Given the description of an element on the screen output the (x, y) to click on. 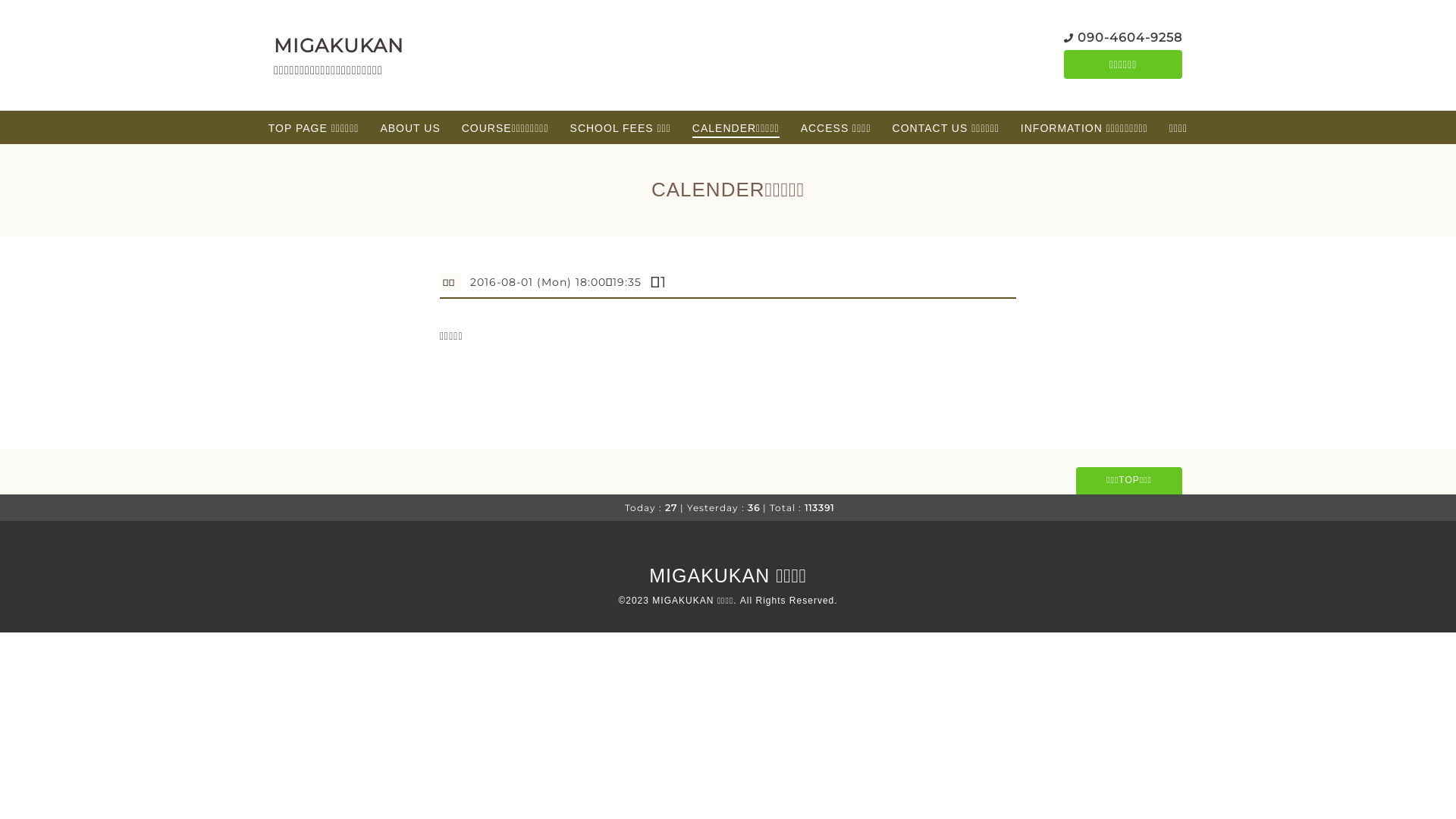
090-4604-9258 Element type: text (1129, 37)
MIGAKUKAN Element type: text (338, 45)
ABOUT US Element type: text (409, 127)
